Given the description of an element on the screen output the (x, y) to click on. 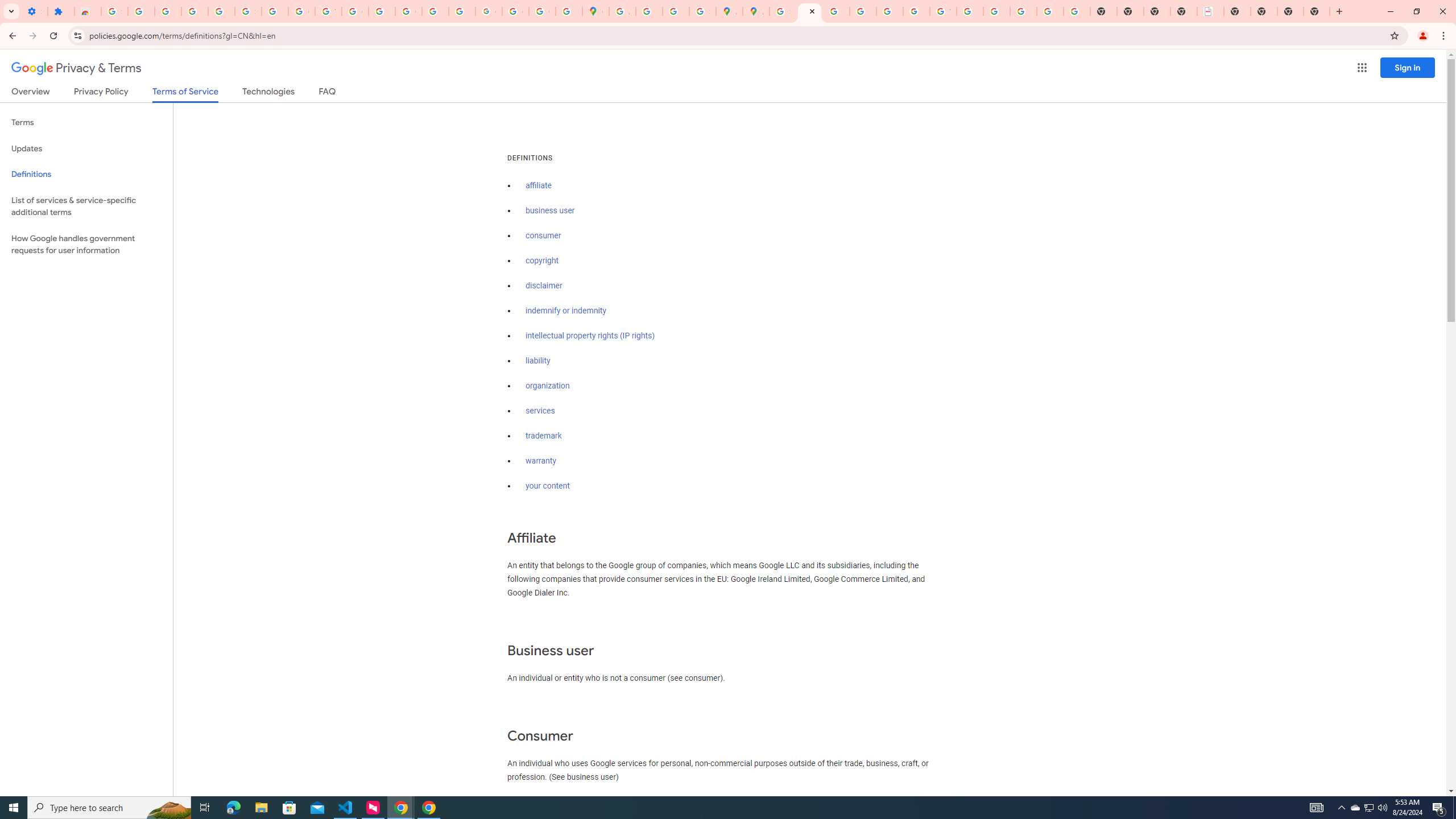
your content (547, 486)
YouTube (943, 11)
affiliate (538, 185)
